Given the description of an element on the screen output the (x, y) to click on. 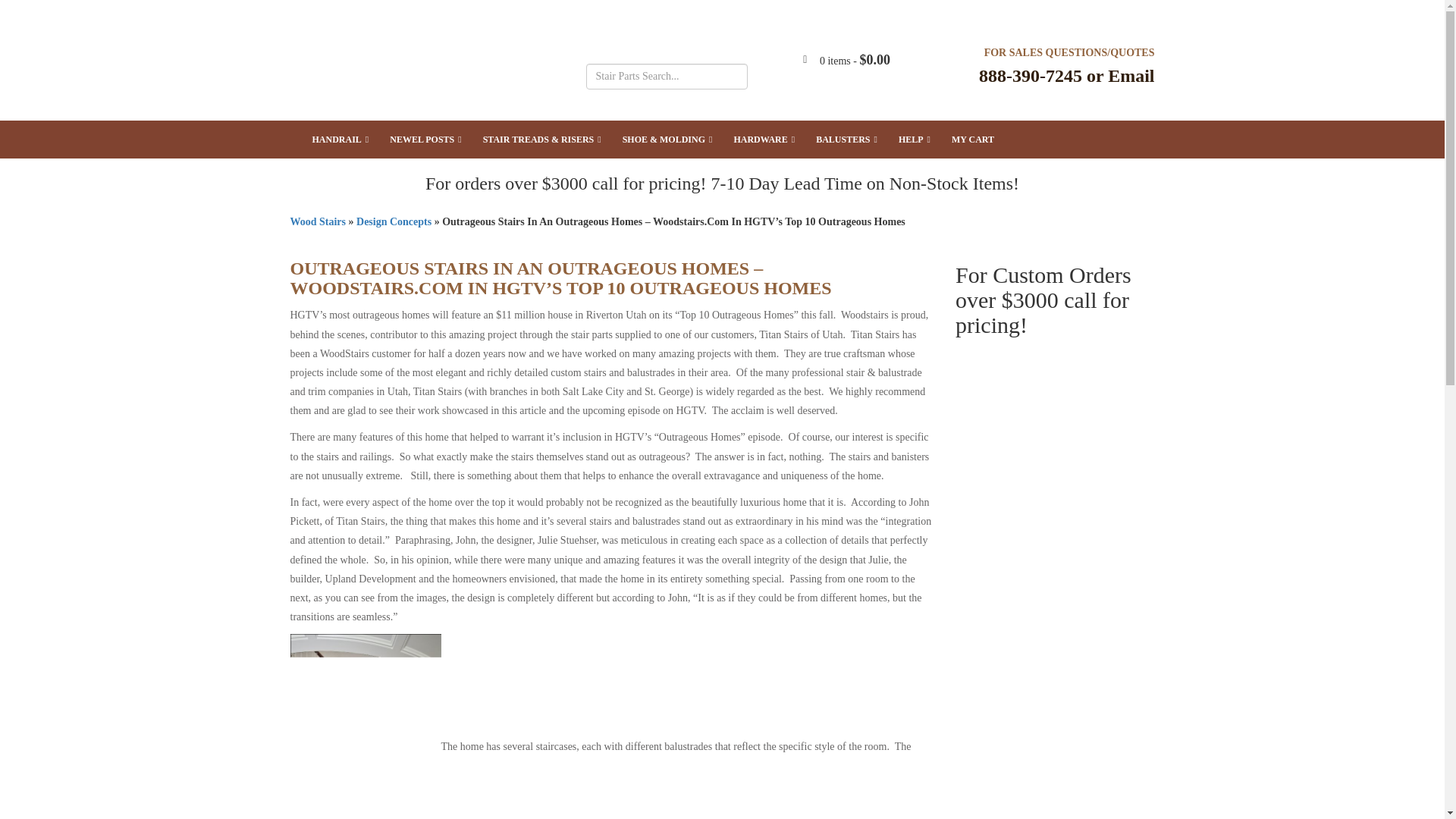
View your shopping cart (854, 60)
